Given the description of an element on the screen output the (x, y) to click on. 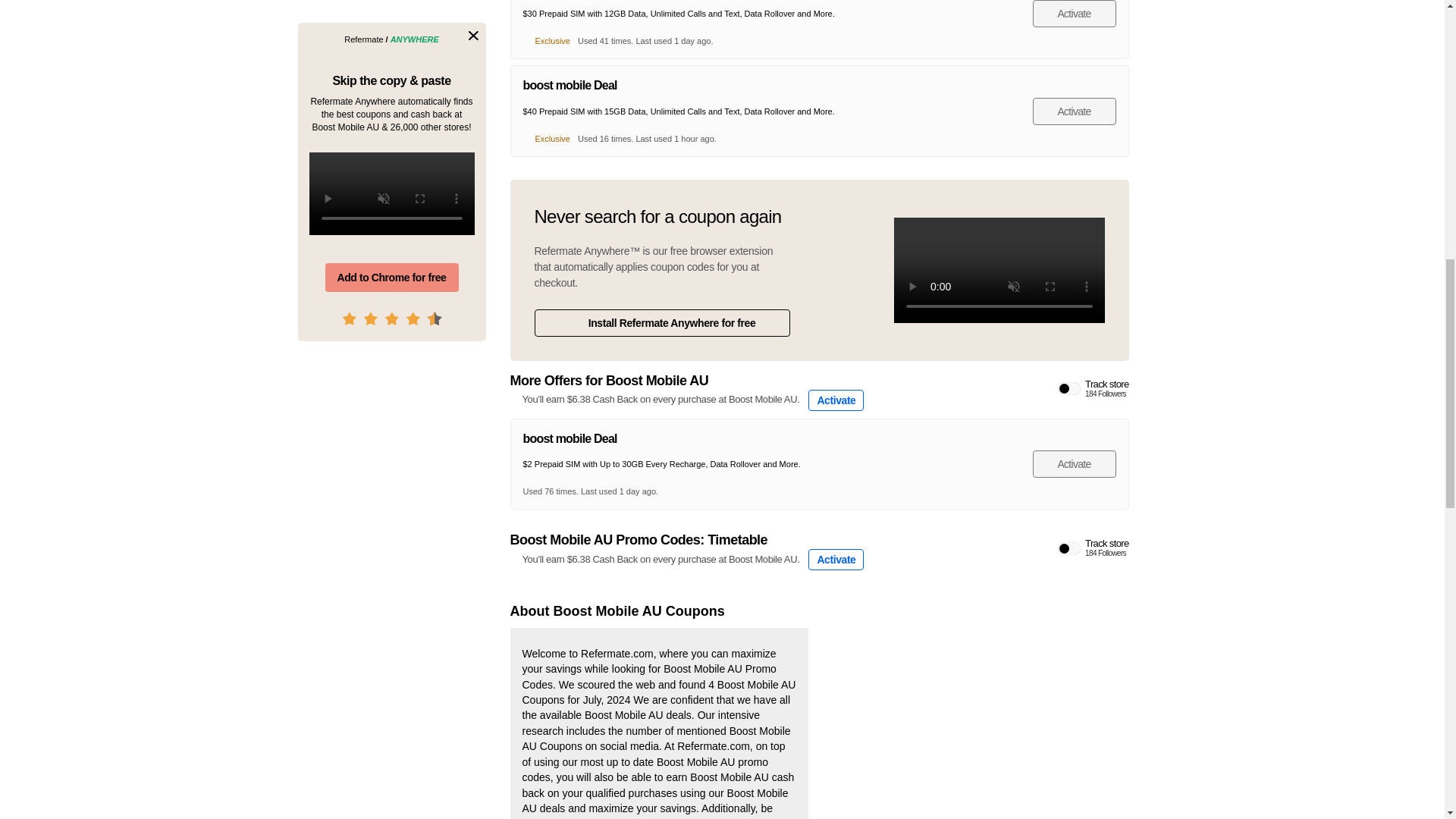
Activate (1074, 13)
Activate (1093, 388)
Install Refermate Anywhere for free (835, 400)
Activate (661, 322)
Activate (1093, 547)
Activate (1074, 463)
